Given the description of an element on the screen output the (x, y) to click on. 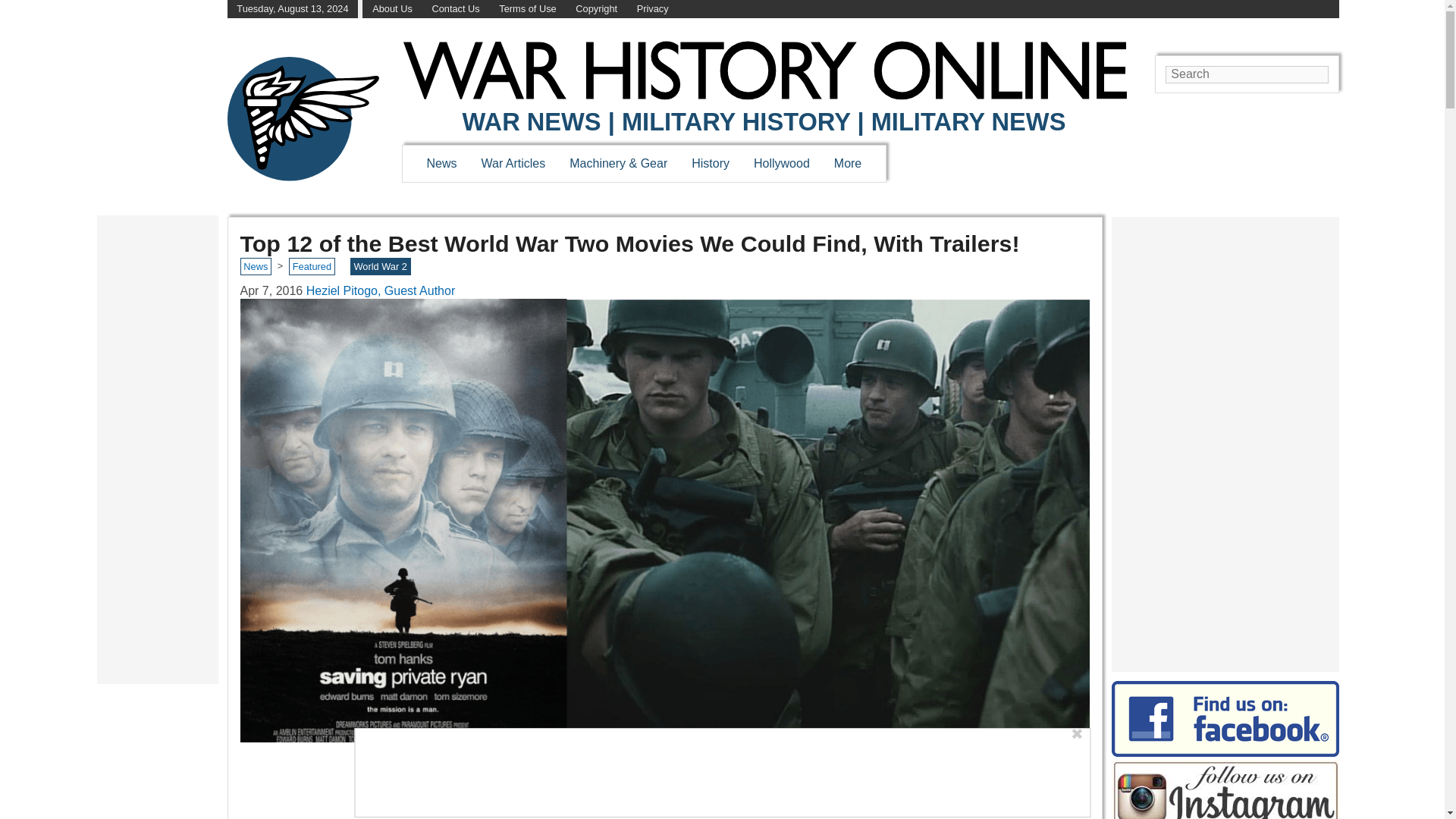
Privacy (652, 8)
About Us (392, 8)
Contact Us (454, 8)
History (710, 163)
Terms of Use (527, 8)
More (847, 163)
Hollywood (781, 163)
News (441, 163)
Copyright (596, 8)
War Articles (513, 163)
